Given the description of an element on the screen output the (x, y) to click on. 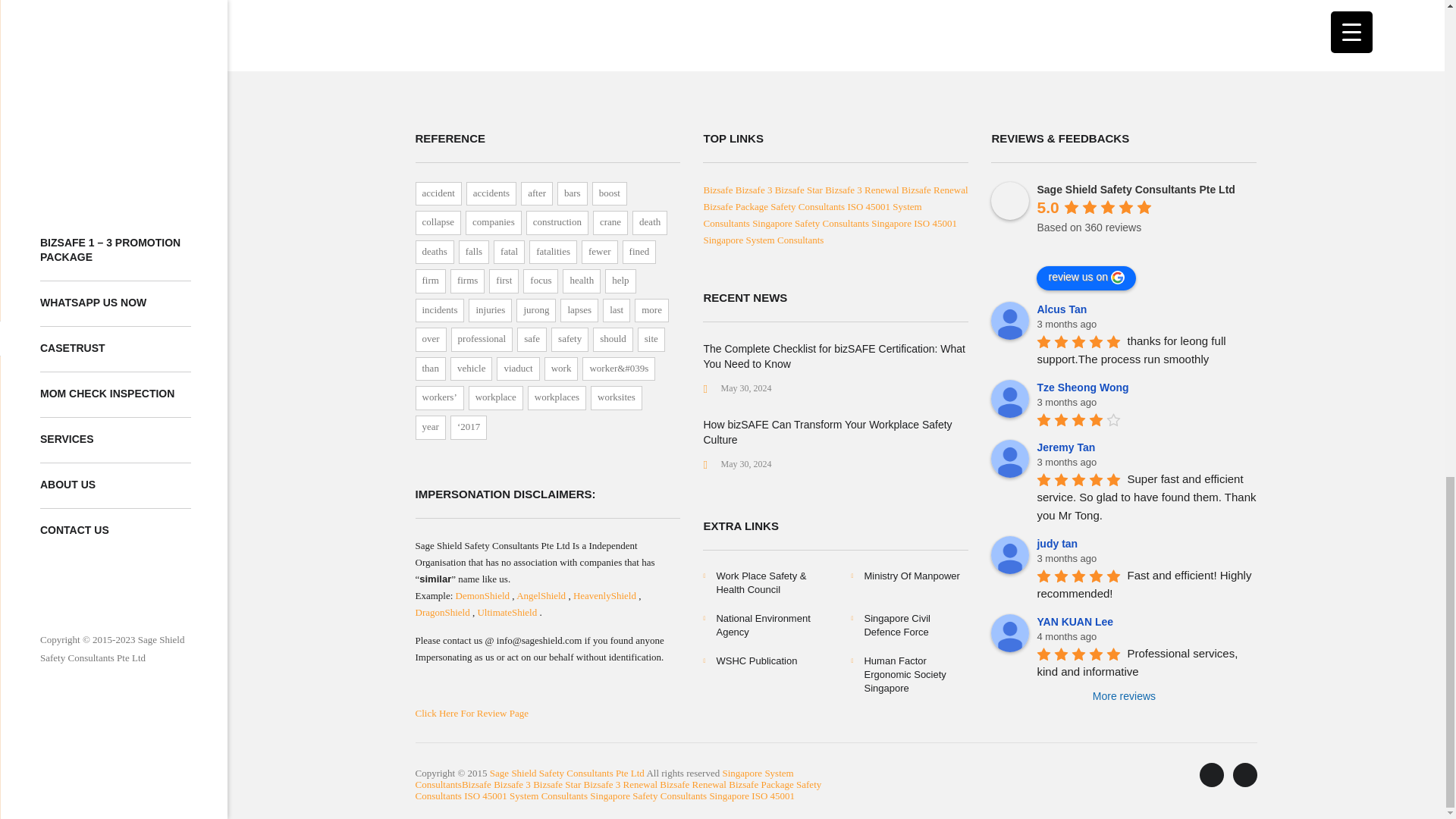
judy tan (1010, 555)
boost (609, 193)
bars (572, 193)
Alcus Tan (1010, 320)
powered by Google (1090, 246)
accidents (490, 193)
Tze Sheong Wong (1010, 398)
YAN KUAN Lee (1010, 632)
after (537, 193)
accident (437, 193)
Sage Shield Safety Consultants Pte Ltd (1010, 200)
Jeremy Tan (1010, 458)
collapse (437, 222)
